Given the description of an element on the screen output the (x, y) to click on. 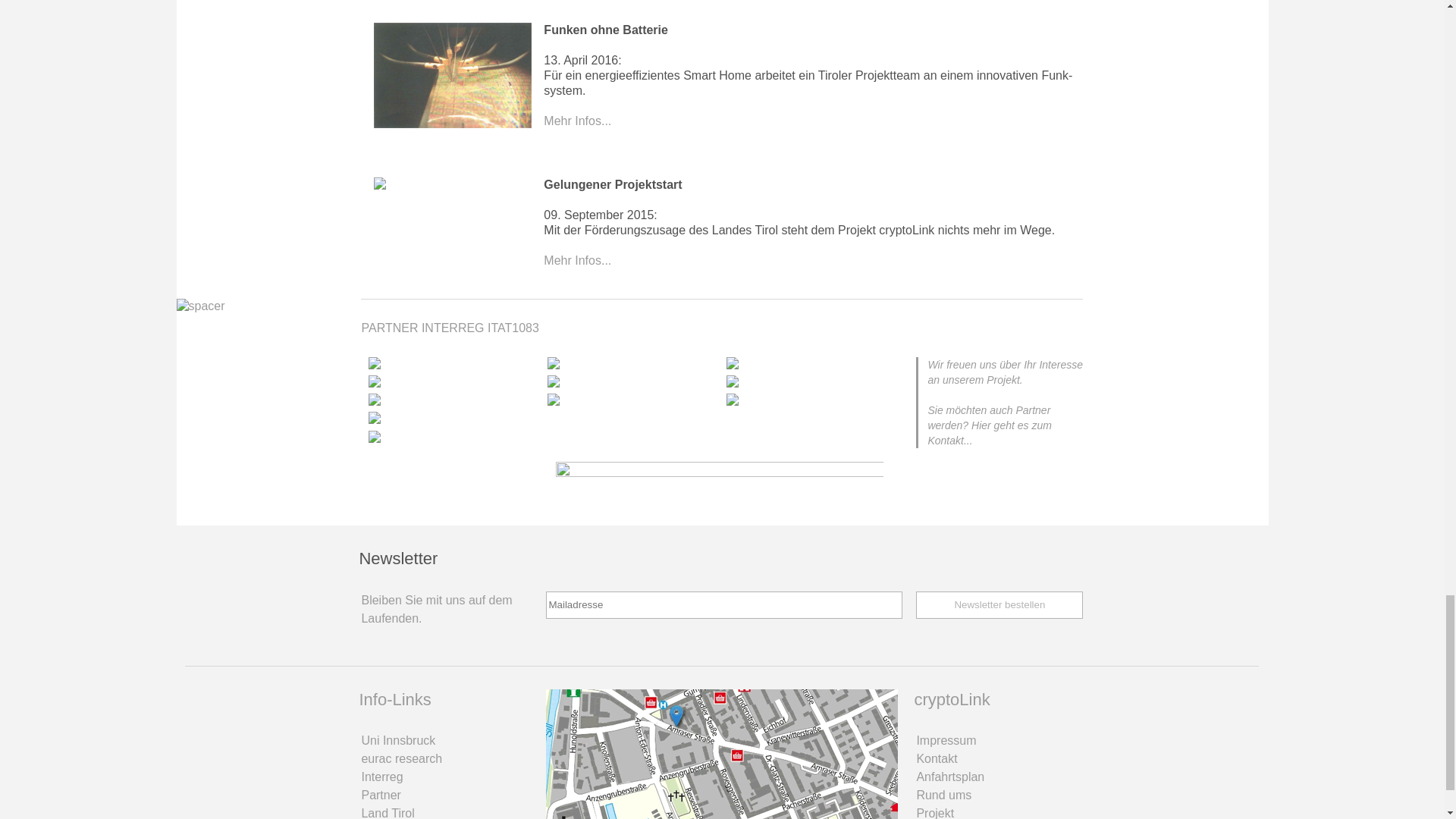
Newsletter bestellen (999, 605)
